Given the description of an element on the screen output the (x, y) to click on. 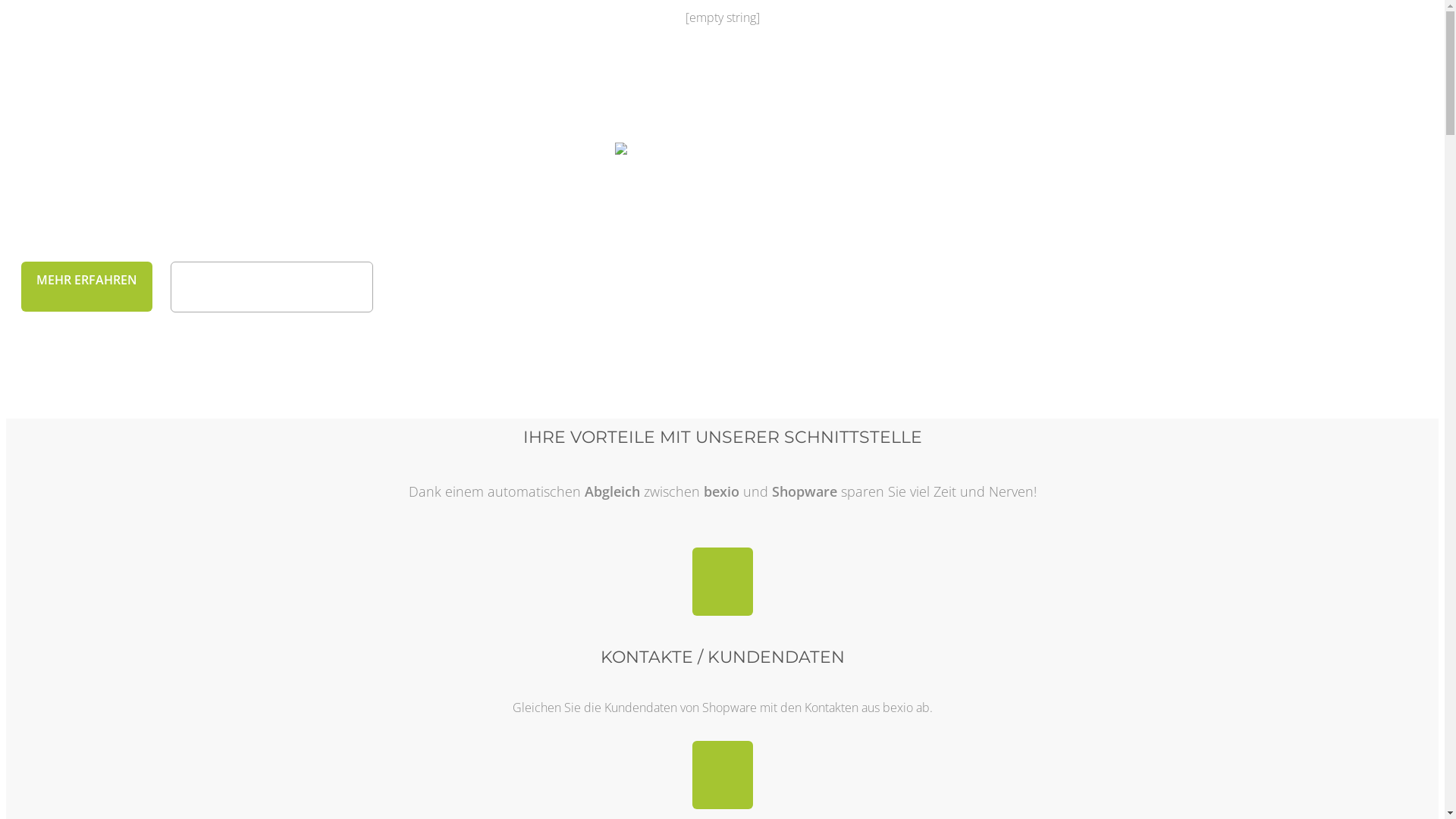
MEHR ERFAHREN Element type: text (86, 286)
SCHNITTSTELLE ANFORDERN Element type: text (271, 286)
